Given the description of an element on the screen output the (x, y) to click on. 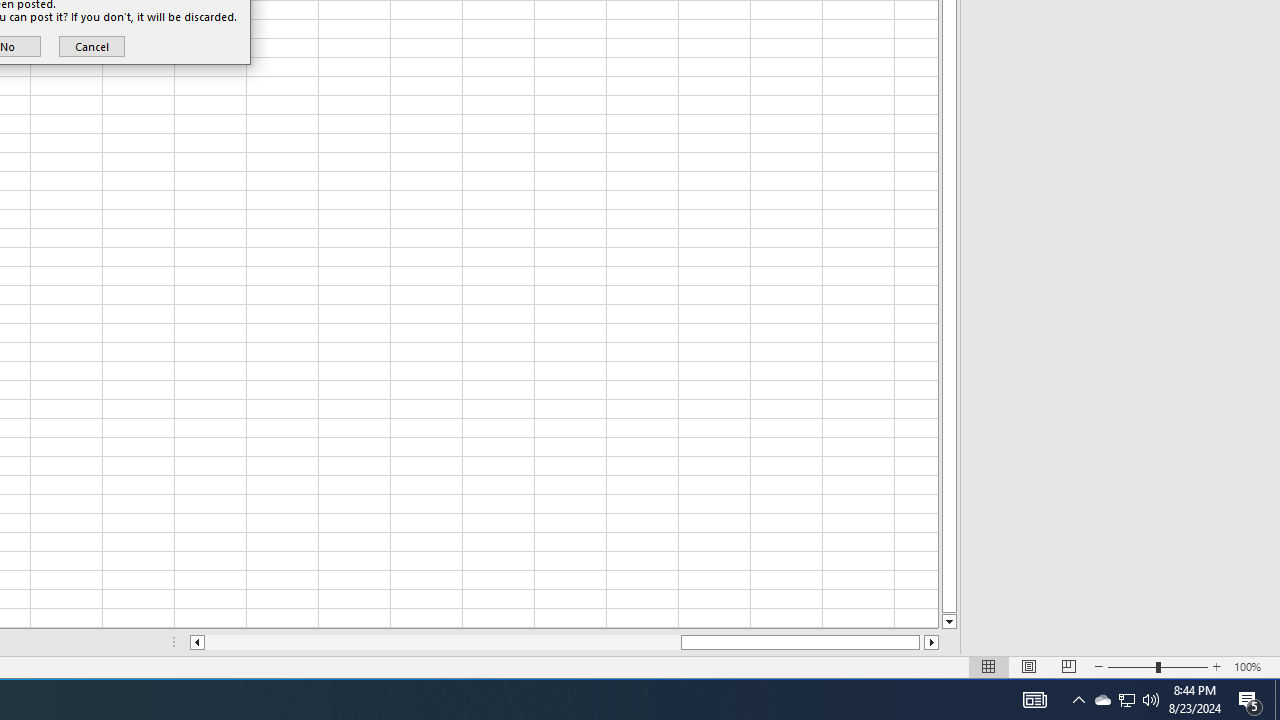
Action Center, 5 new notifications (1250, 699)
Q2790: 100% (1126, 699)
